Given the description of an element on the screen output the (x, y) to click on. 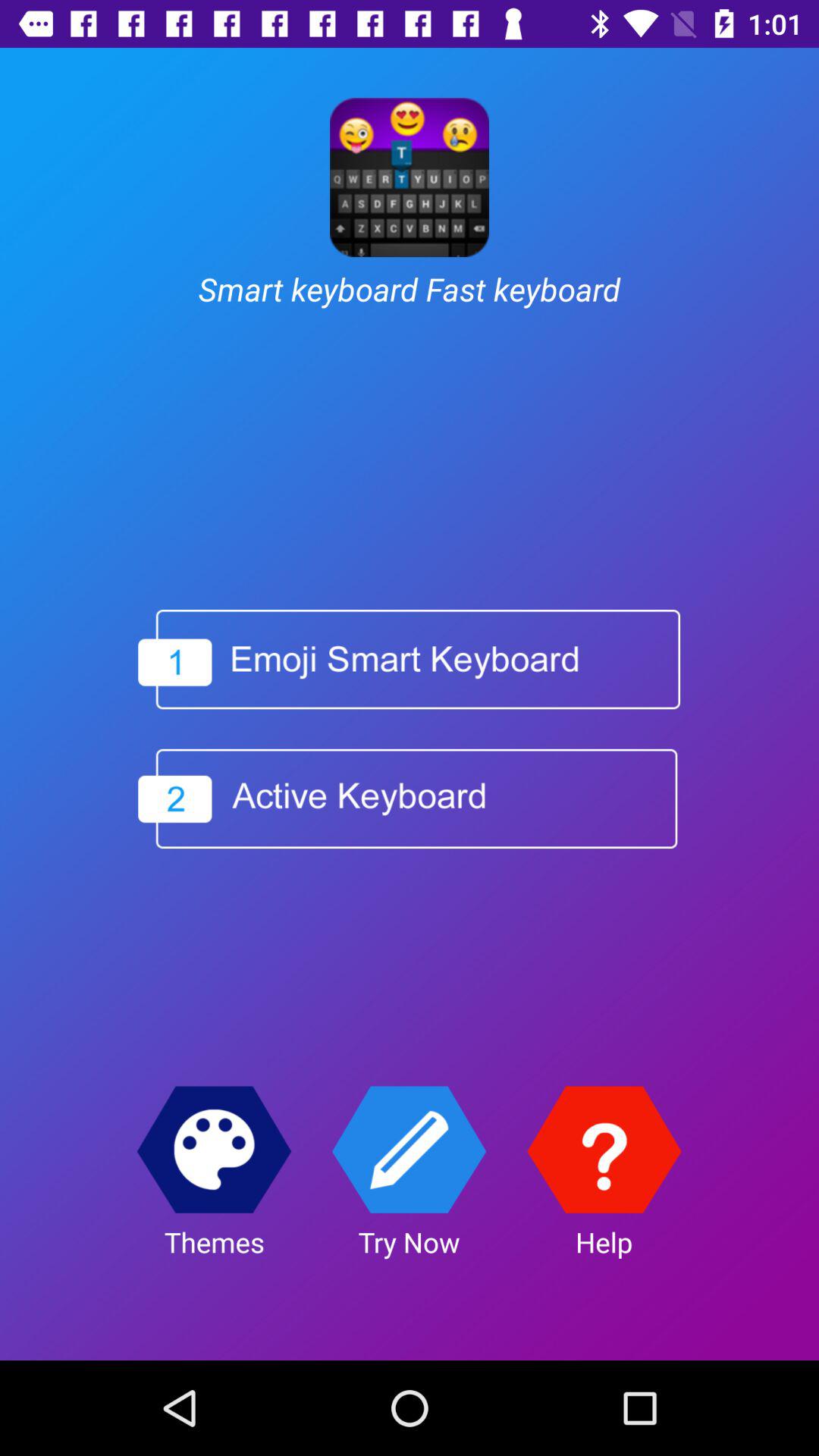
help (603, 1149)
